Given the description of an element on the screen output the (x, y) to click on. 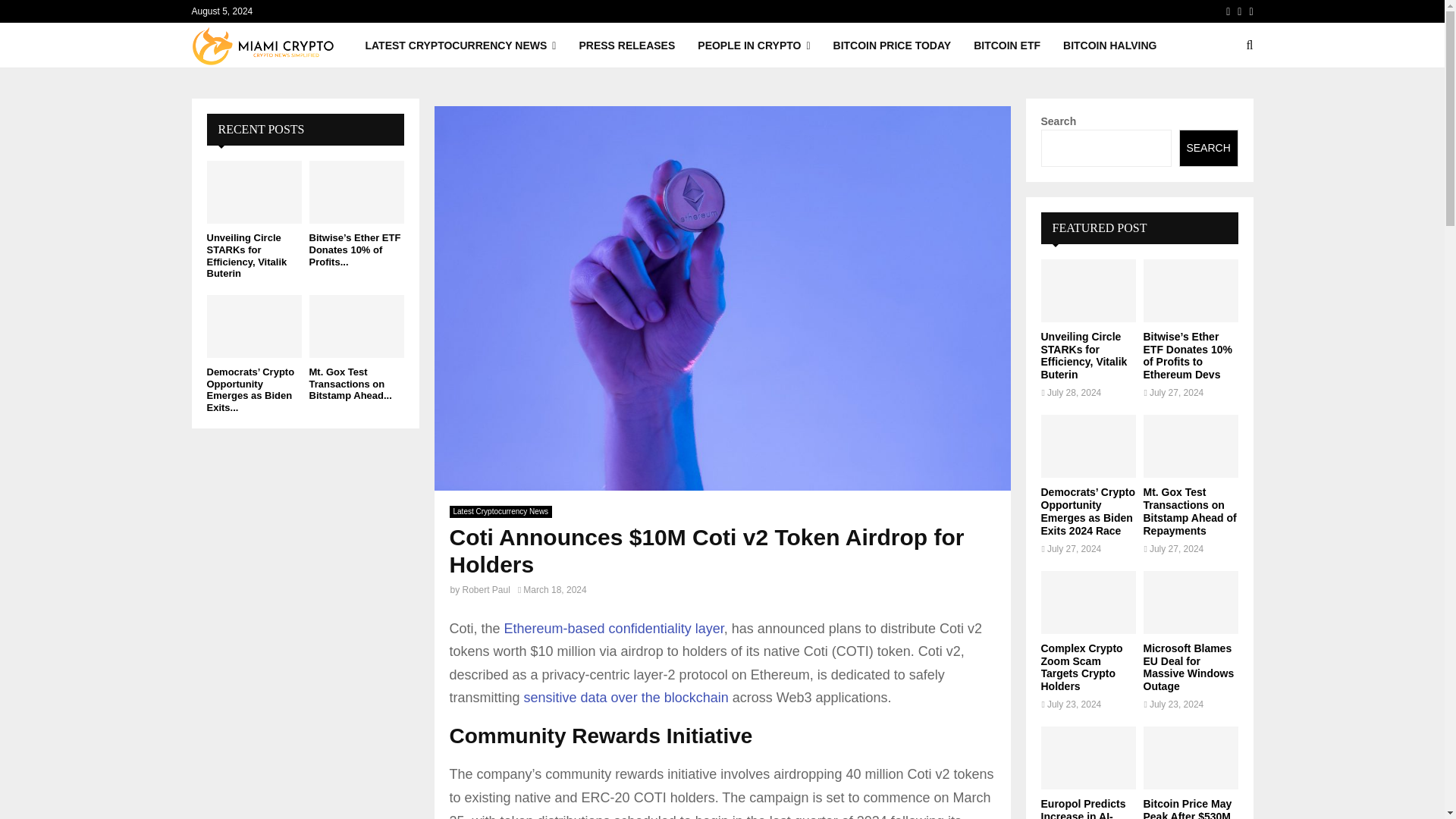
PRESS RELEASES (626, 44)
PEOPLE IN CRYPTO (753, 44)
Ethereum-based confidentiality layer (613, 628)
BITCOIN ETF (1007, 44)
Latest Cryptocurrency News (499, 511)
BITCOIN HALVING (1109, 44)
sensitive data over the blockchain (626, 697)
BITCOIN PRICE TODAY (892, 44)
LATEST CRYPTOCURRENCY NEWS (460, 44)
 Unveiling Circle STARKs for Efficiency, Vitalik Buterin  (246, 255)
Robert Paul (487, 589)
Unveiling Circle STARKs for Efficiency, Vitalik Buterin (253, 191)
